Given the description of an element on the screen output the (x, y) to click on. 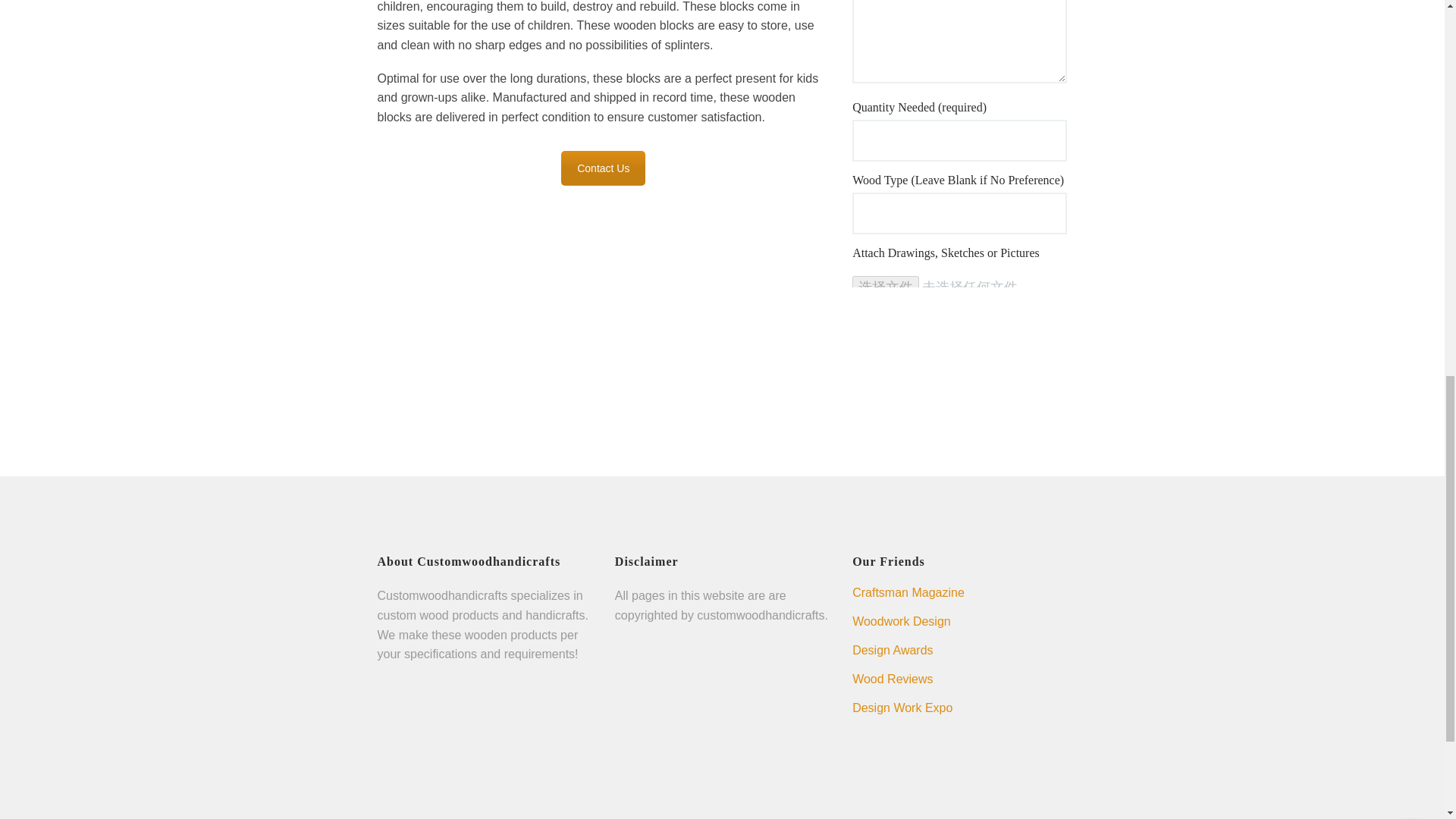
Send (883, 316)
